Given the description of an element on the screen output the (x, y) to click on. 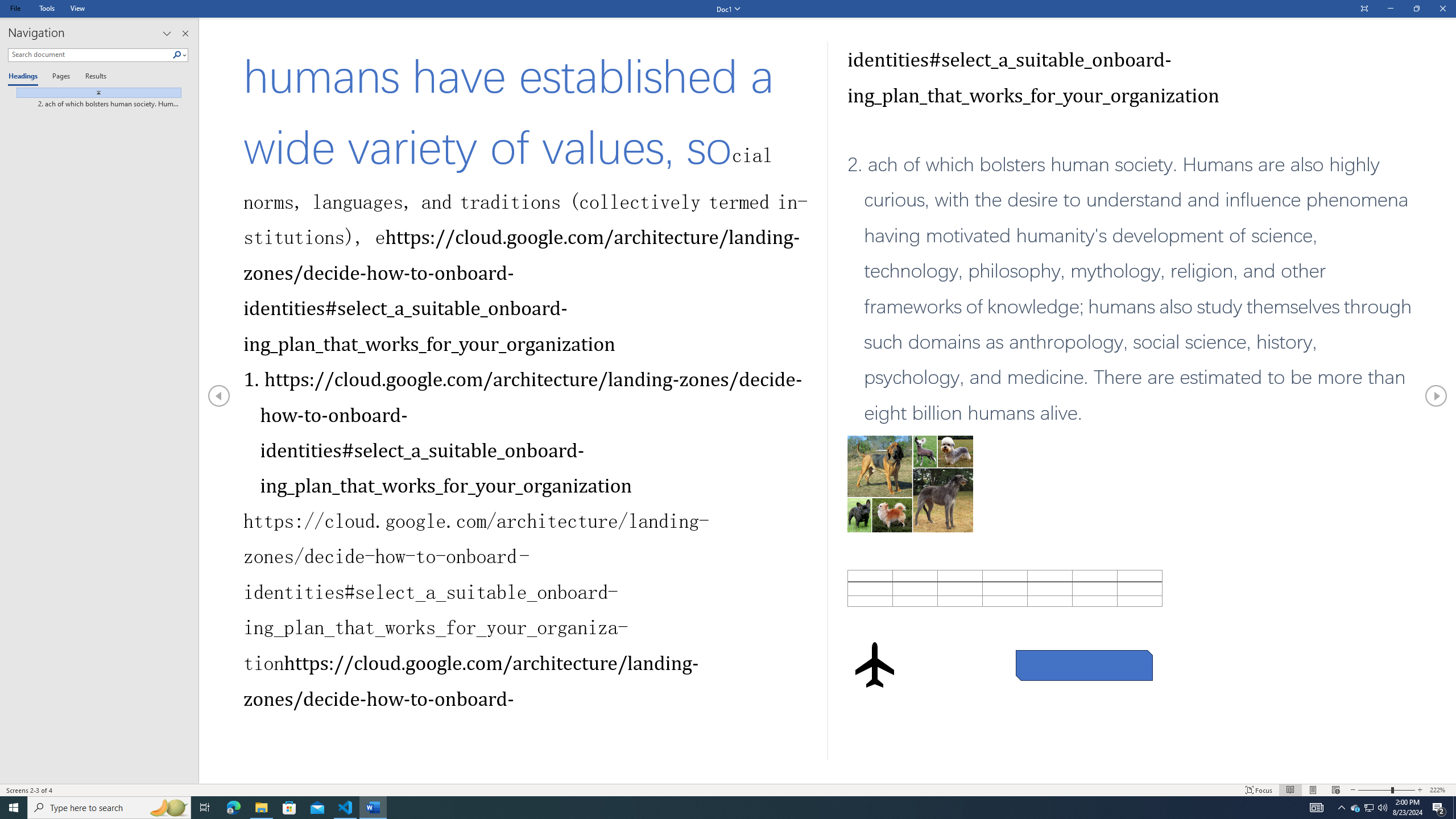
Morphological variation in six dogs (909, 307)
1. (522, 431)
2. (1131, 288)
Results (91, 76)
Search document (89, 54)
Class: MsoCommandBar (728, 789)
